Given the description of an element on the screen output the (x, y) to click on. 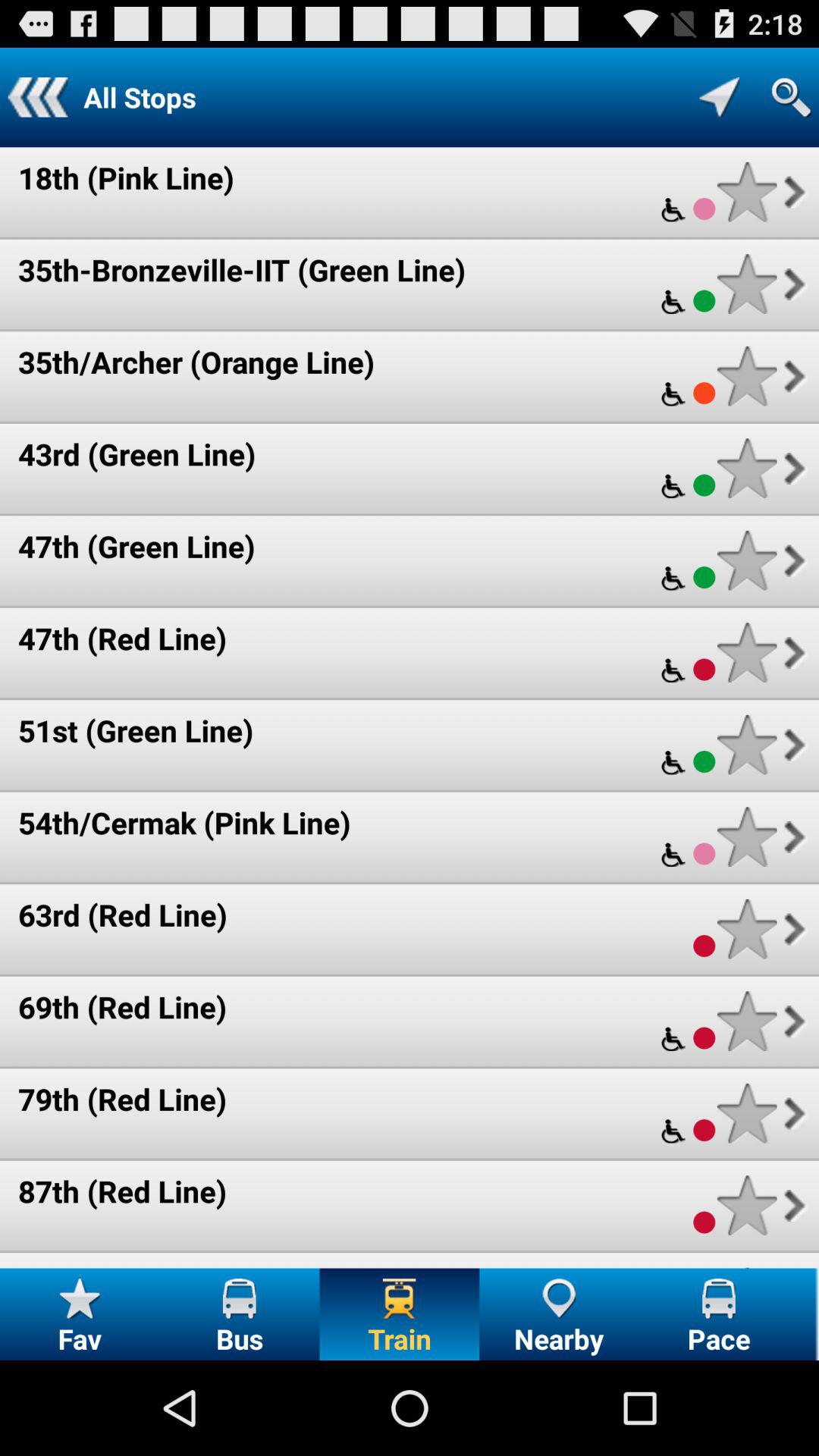
search train stops (791, 97)
